Given the description of an element on the screen output the (x, y) to click on. 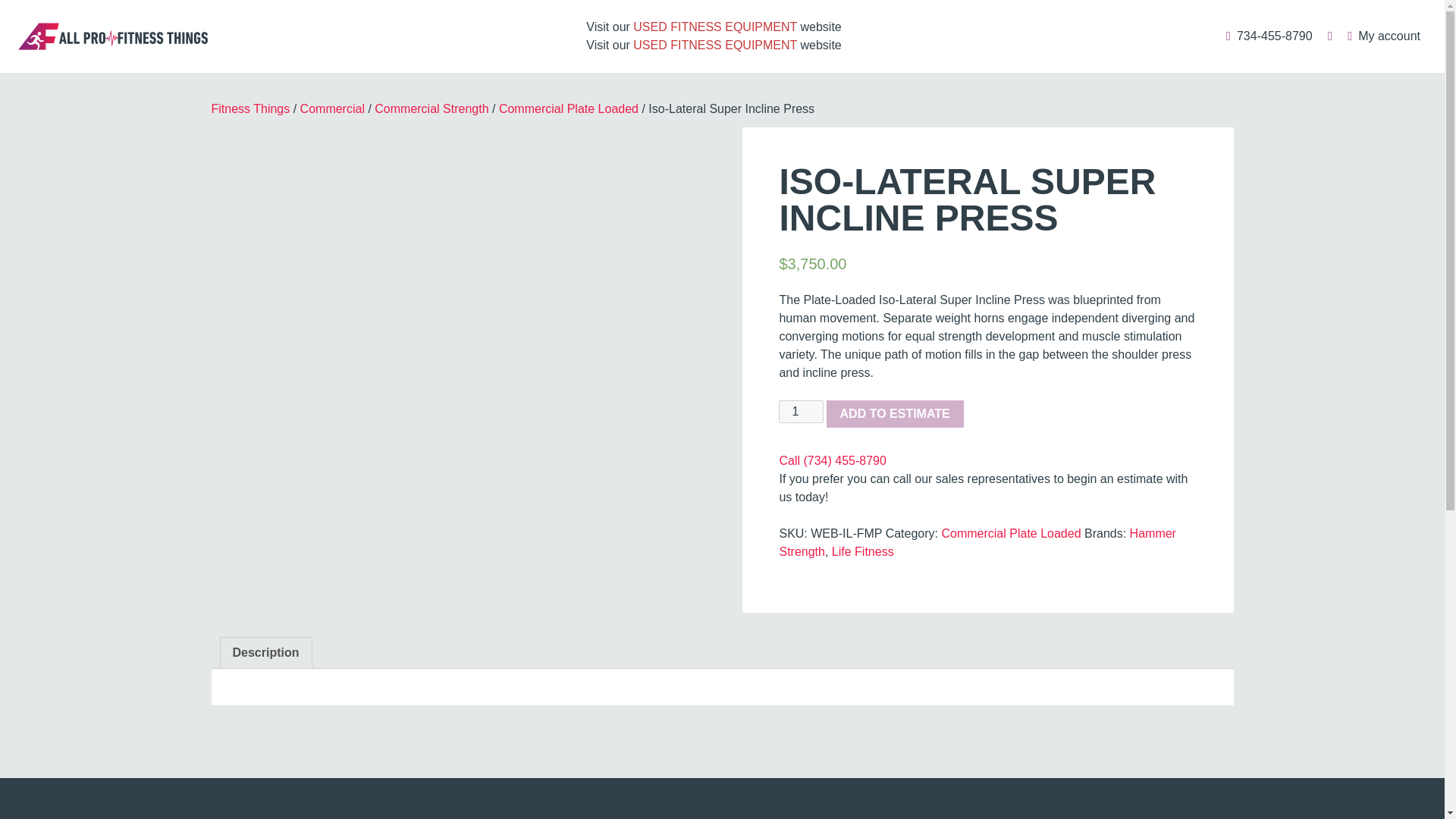
My account (1383, 36)
Qty (800, 411)
734-455-8790 (1268, 36)
USED FITNESS EQUIPMENT (714, 44)
1 (800, 411)
USED FITNESS EQUIPMENT (714, 26)
